Given the description of an element on the screen output the (x, y) to click on. 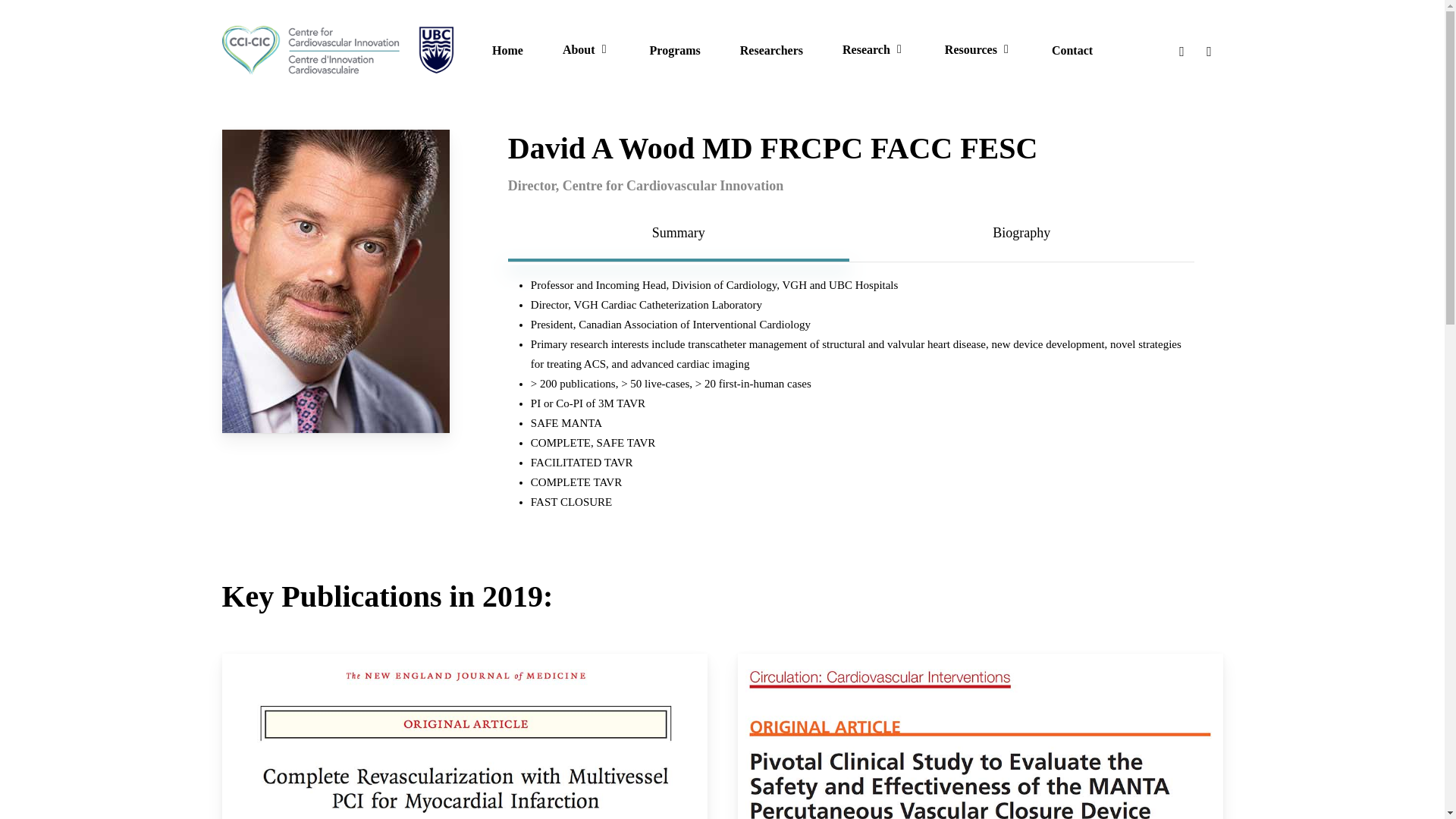
Biography (1021, 232)
Home (507, 50)
Resources (977, 50)
Programs (674, 50)
instagram (1209, 49)
Research (874, 50)
Summary (678, 232)
twitter (1181, 49)
Contact (1072, 50)
About (586, 50)
Researchers (771, 50)
